Given the description of an element on the screen output the (x, y) to click on. 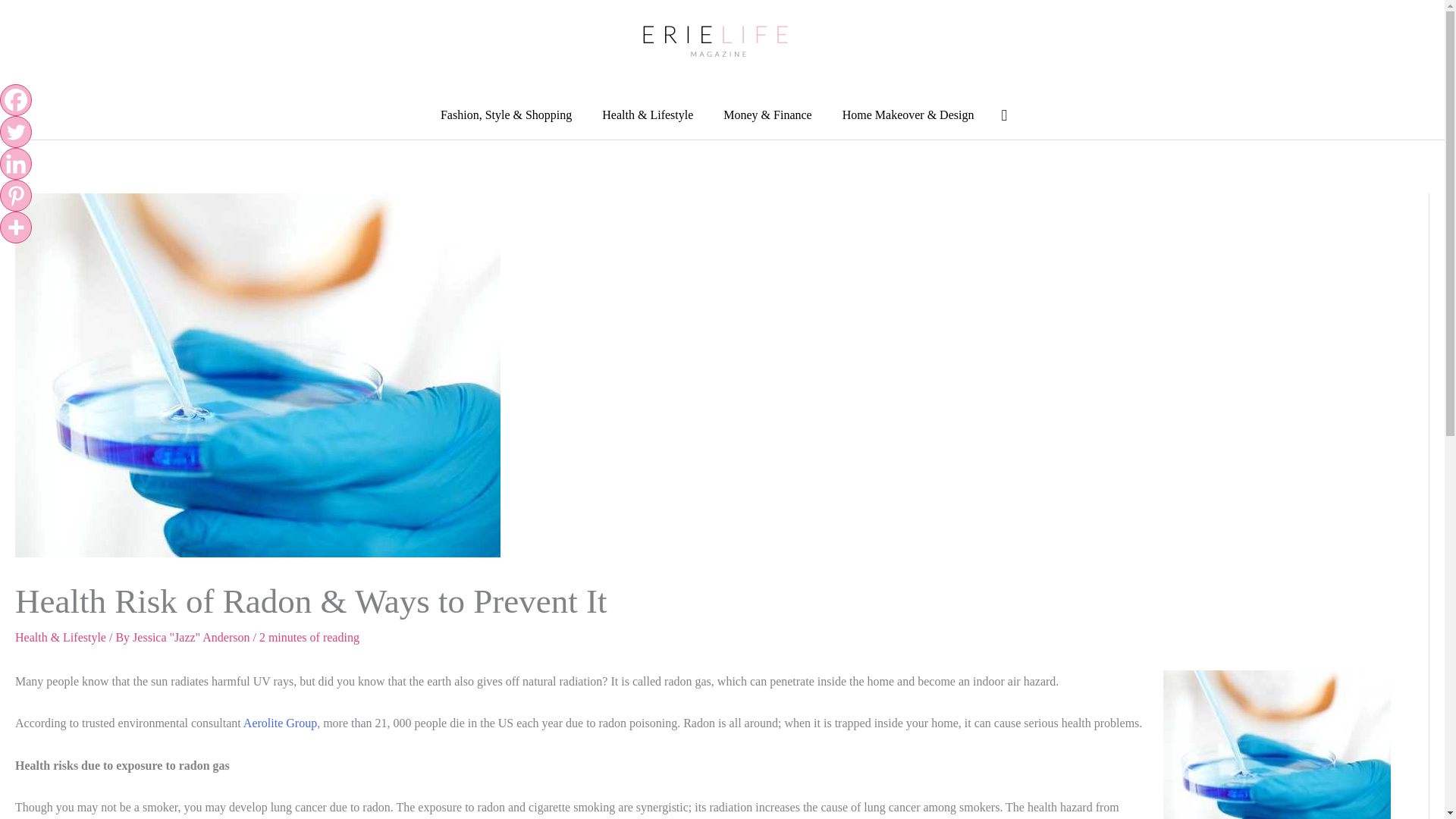
Pinterest (16, 195)
Linkedin (16, 163)
health risk of radon (1276, 744)
View all posts by Jessica "Jazz" Anderson (191, 636)
Facebook (16, 100)
Twitter (16, 132)
More (16, 227)
Jessica "Jazz" Anderson (191, 636)
Aerolitegroup.com (280, 722)
Aerolite Group (280, 722)
